Given the description of an element on the screen output the (x, y) to click on. 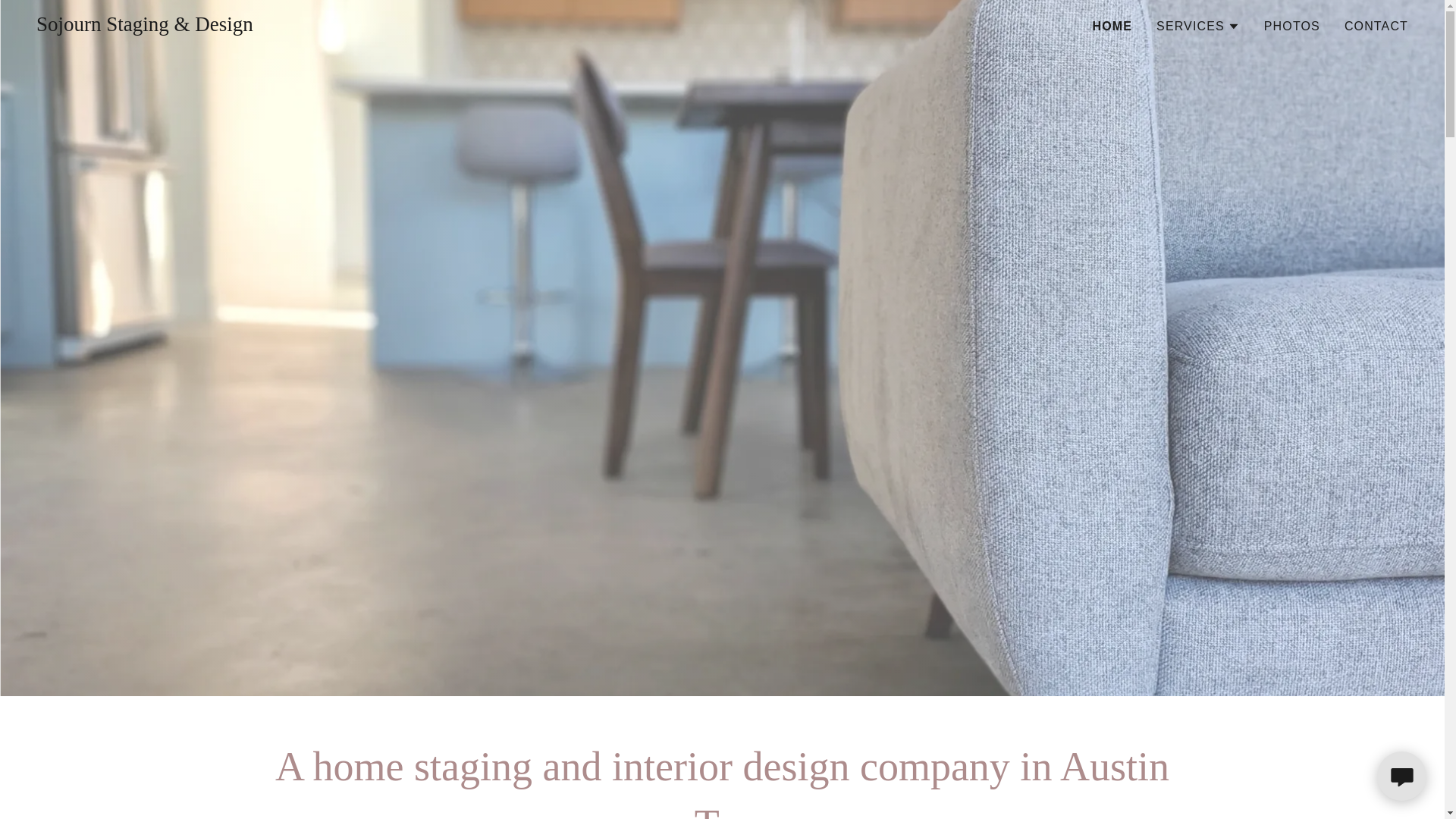
CONTACT (1375, 26)
SERVICES (1198, 26)
PHOTOS (1291, 26)
HOME (1112, 26)
